Given the description of an element on the screen output the (x, y) to click on. 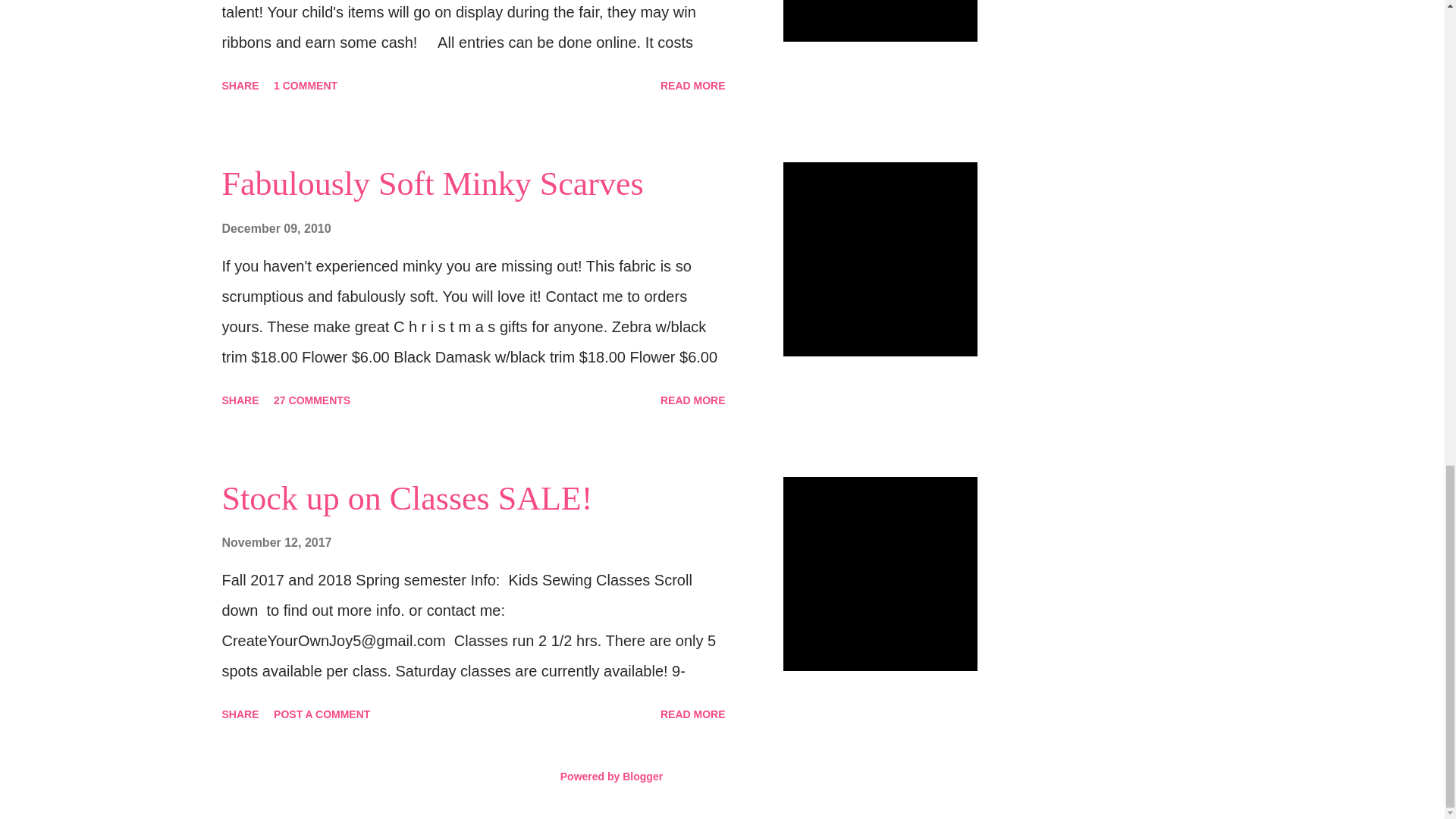
December 09, 2010 (275, 228)
POST A COMMENT (321, 713)
READ MORE (692, 713)
November 12, 2017 (276, 542)
READ MORE (692, 400)
SHARE (239, 400)
Fabulously Soft Minky Scarves (432, 183)
Stock up on Classes SALE! (406, 497)
1 COMMENT (305, 85)
27 COMMENTS (311, 400)
SHARE (239, 85)
READ MORE (692, 85)
SHARE (239, 713)
